Given the description of an element on the screen output the (x, y) to click on. 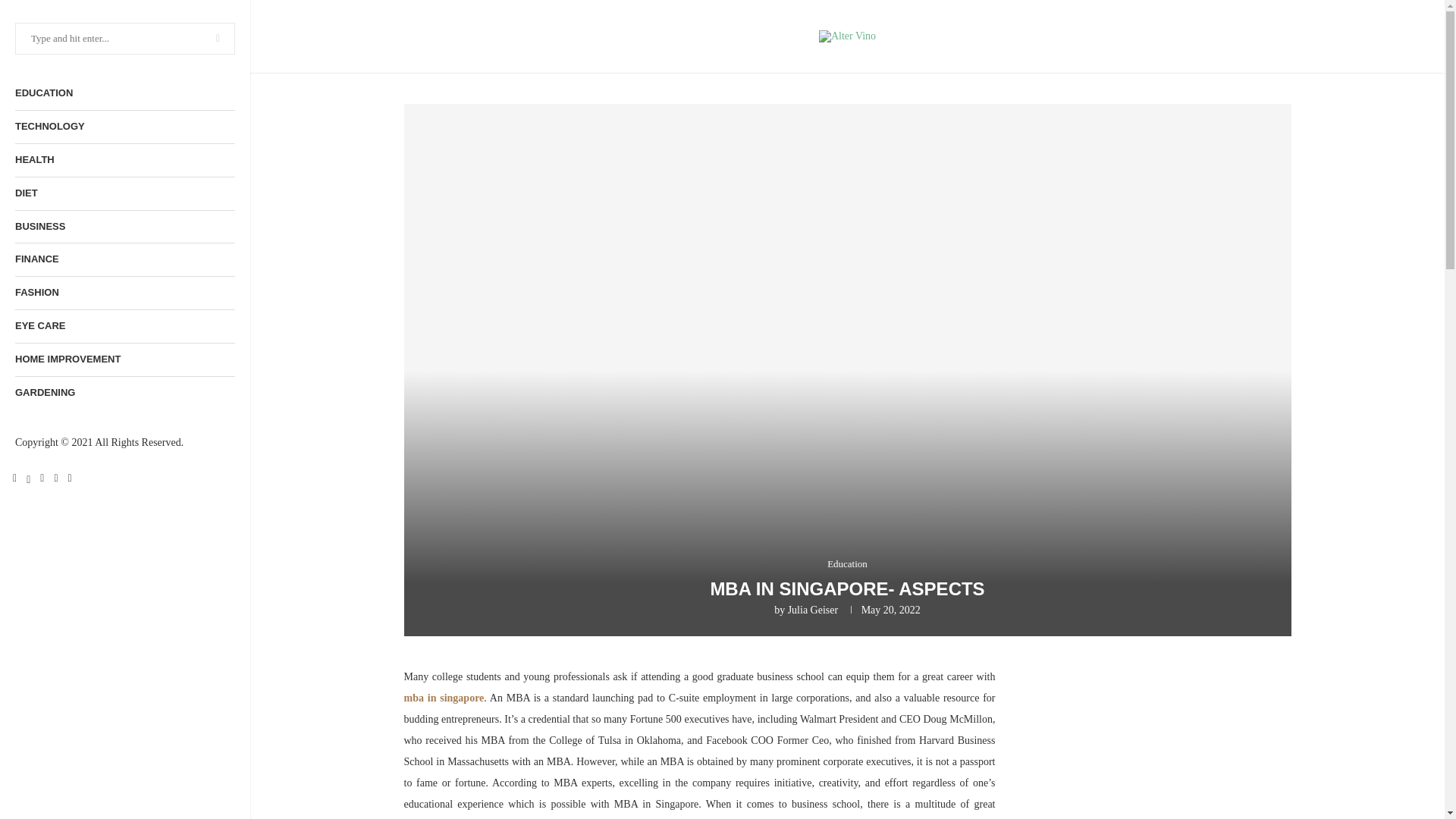
mba in singapore (443, 697)
HOME IMPROVEMENT (124, 359)
Julia Geiser (812, 609)
TECHNOLOGY (124, 126)
EYE CARE (124, 326)
EDUCATION (124, 92)
DIET (124, 193)
HEALTH (124, 160)
GARDENING (124, 392)
Education (847, 563)
